Given the description of an element on the screen output the (x, y) to click on. 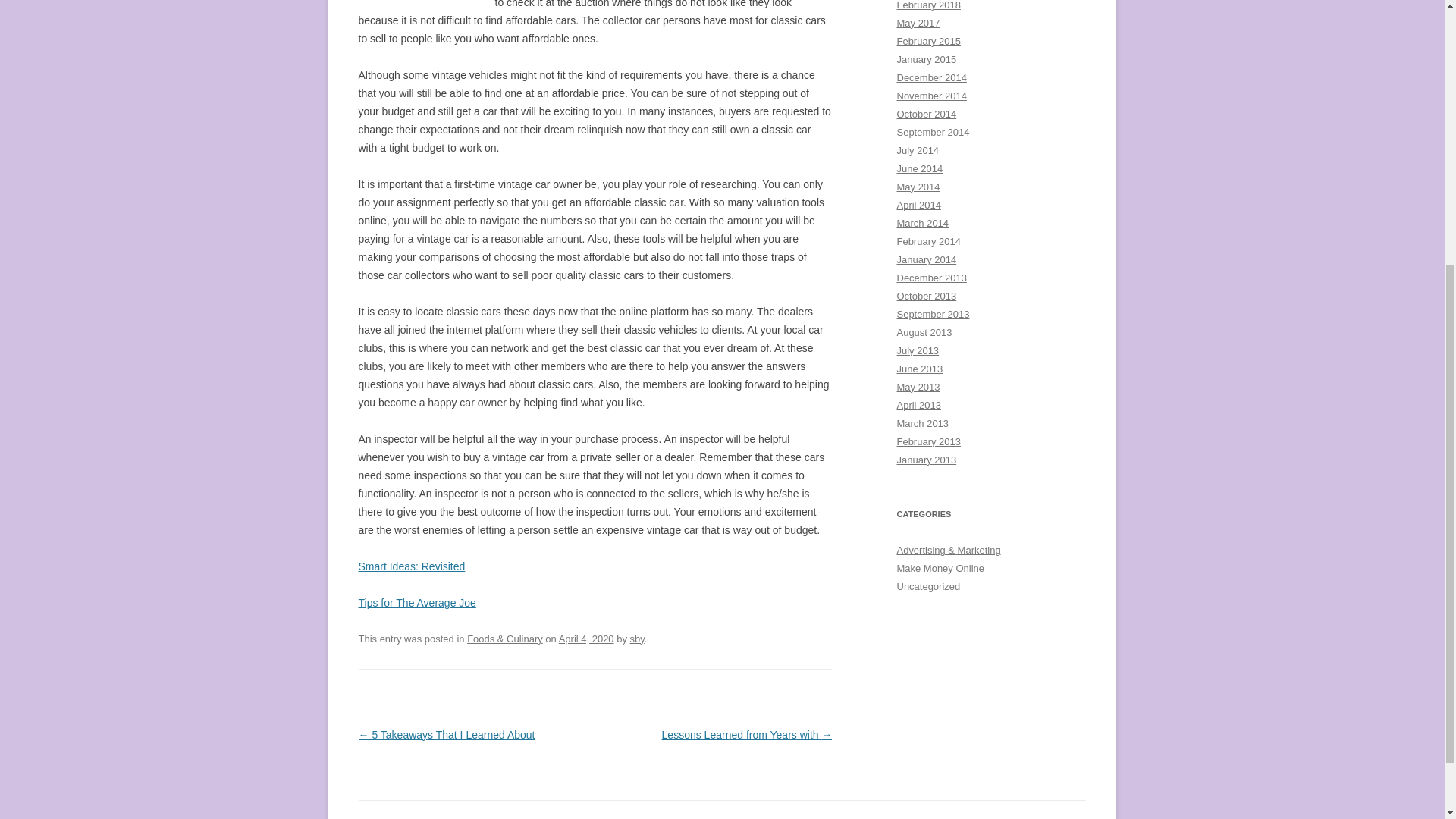
September 2013 (932, 314)
January 2014 (926, 259)
May 2014 (917, 186)
July 2014 (917, 150)
Smart Ideas: Revisited (411, 566)
April 2013 (918, 405)
December 2013 (931, 277)
November 2014 (931, 95)
June 2013 (919, 368)
sby (637, 638)
